Given the description of an element on the screen output the (x, y) to click on. 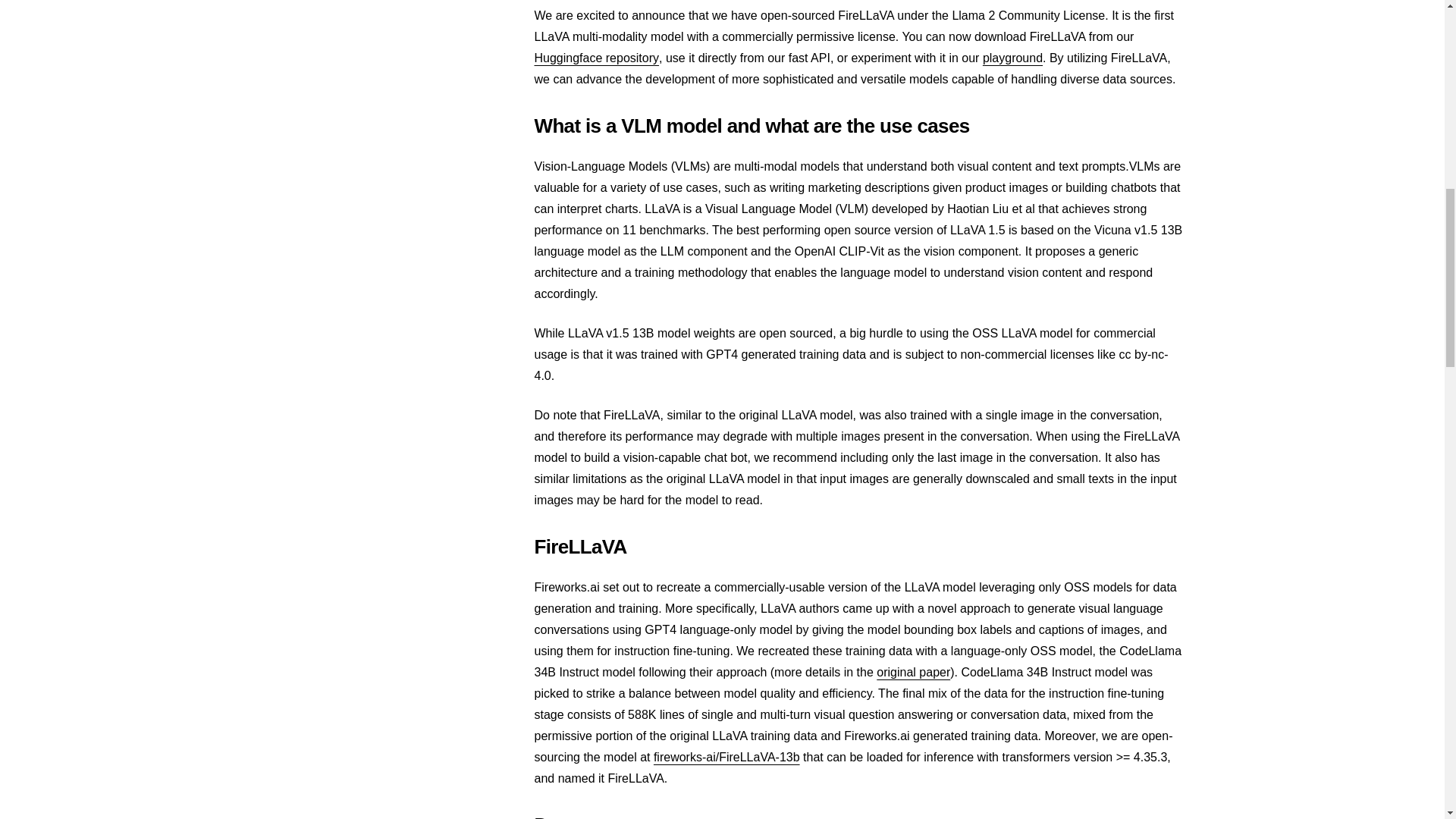
playground (1012, 57)
Huggingface repository (596, 57)
FireLLaVA (858, 546)
original paper (913, 671)
What is a VLM model and what are the use cases (858, 126)
